Given the description of an element on the screen output the (x, y) to click on. 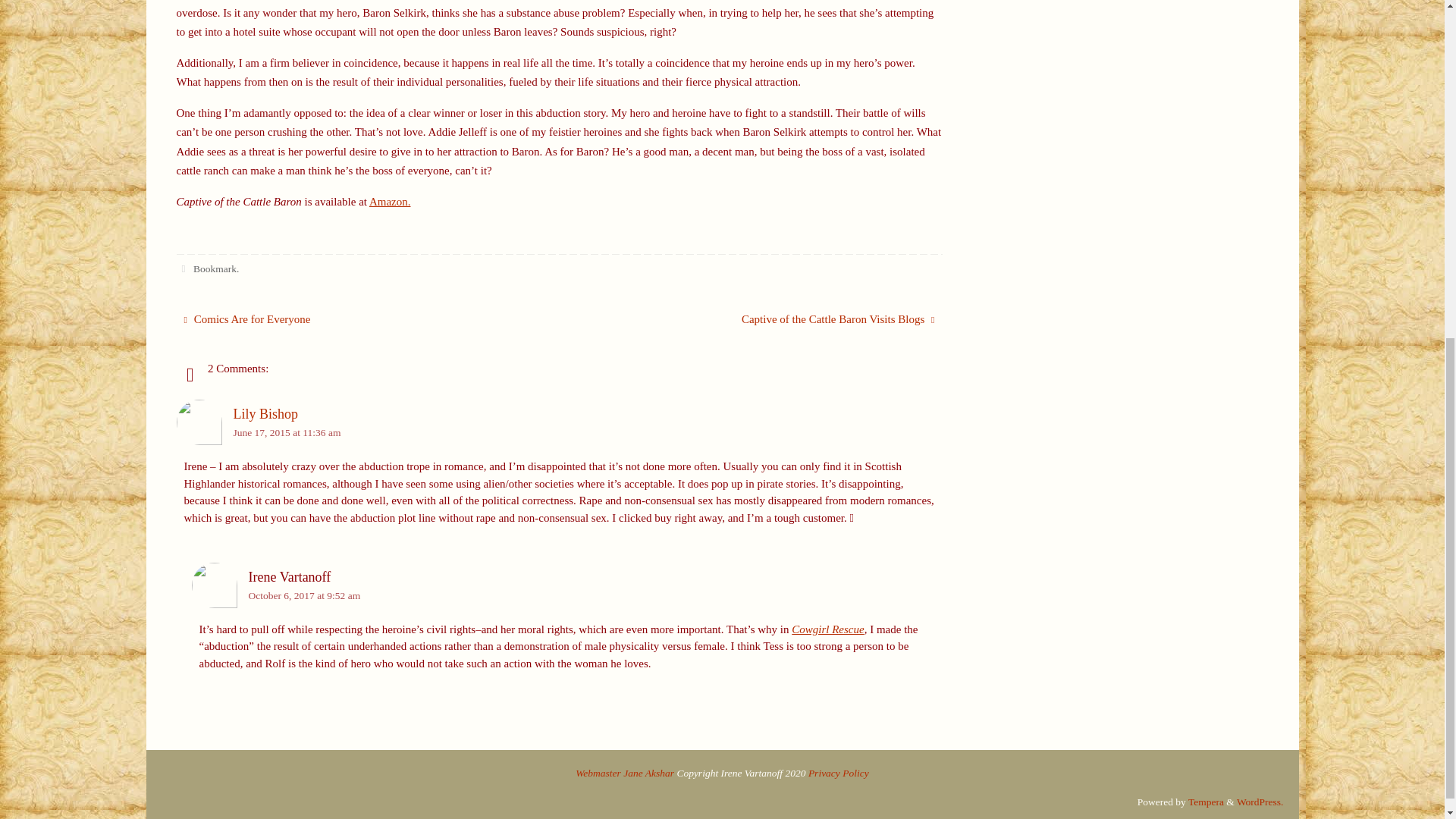
Semantic Personal Publishing Platform (1260, 801)
Tempera Theme by Cryout Creations (1206, 801)
 Bookmark the permalink (183, 268)
